Given the description of an element on the screen output the (x, y) to click on. 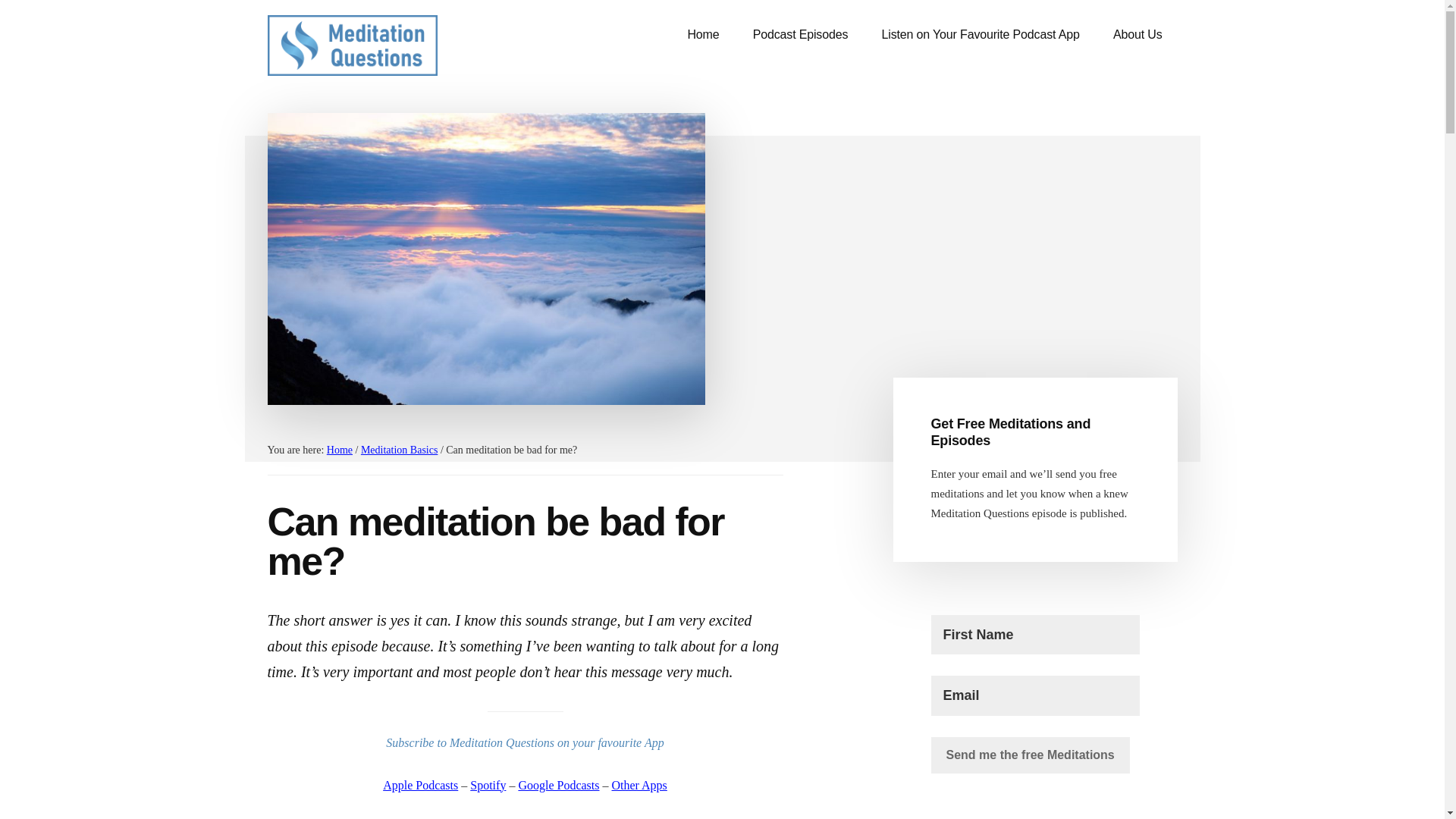
Home (702, 34)
Meditation Basics (399, 449)
Apple Podcasts (420, 784)
Spotify (487, 784)
Podcast Episodes (800, 34)
Home (339, 449)
Listen on Your Favourite Podcast App (980, 34)
Other Apps (638, 784)
Google Podcasts (558, 784)
About Us (1137, 34)
Send me the free Meditations (1030, 755)
